Given the description of an element on the screen output the (x, y) to click on. 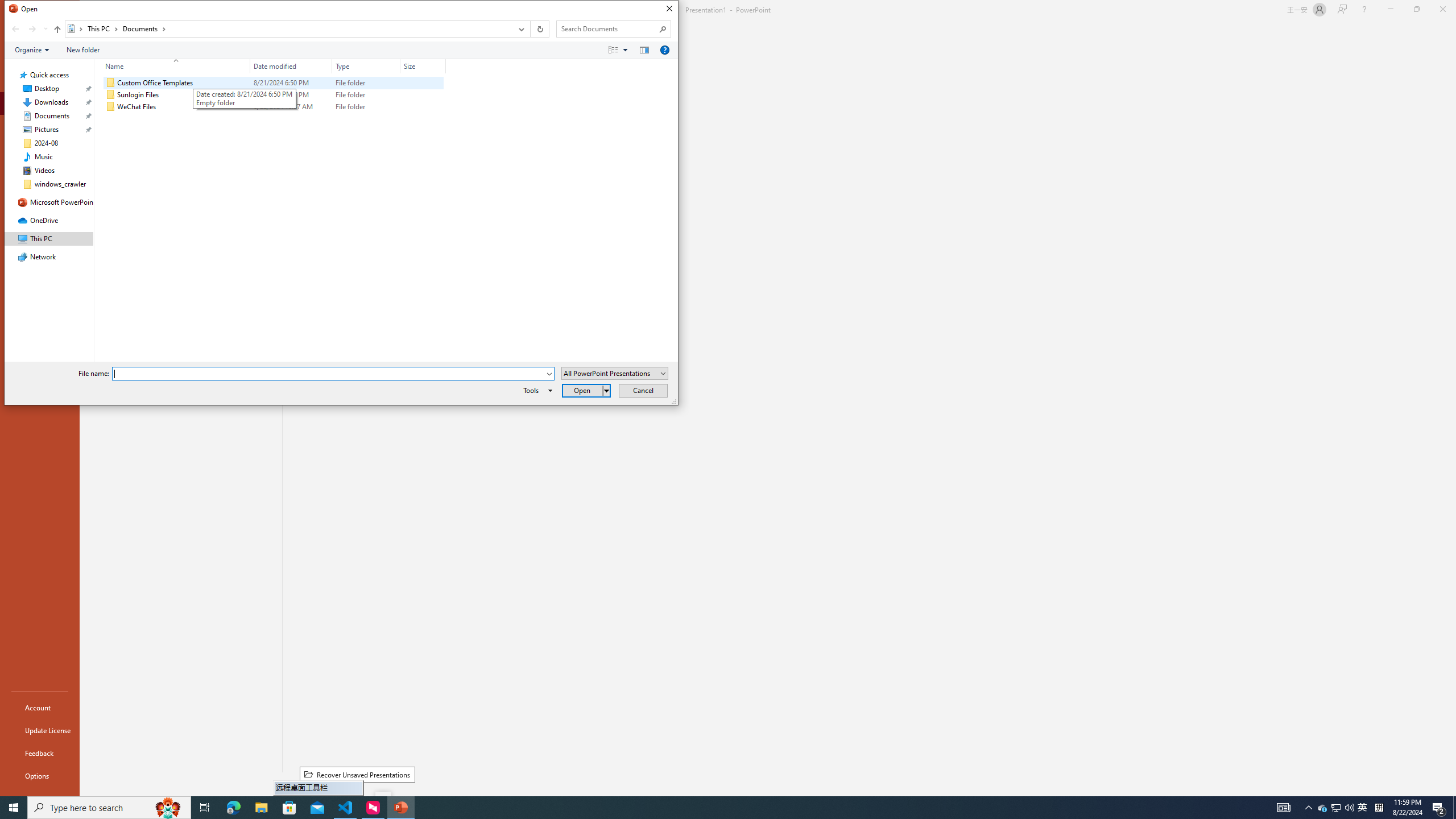
Date modified (290, 65)
Files of type: (615, 373)
Class: UIImage (111, 106)
Preview pane (644, 49)
Views (620, 49)
Size (422, 106)
File name: (329, 373)
